Given the description of an element on the screen output the (x, y) to click on. 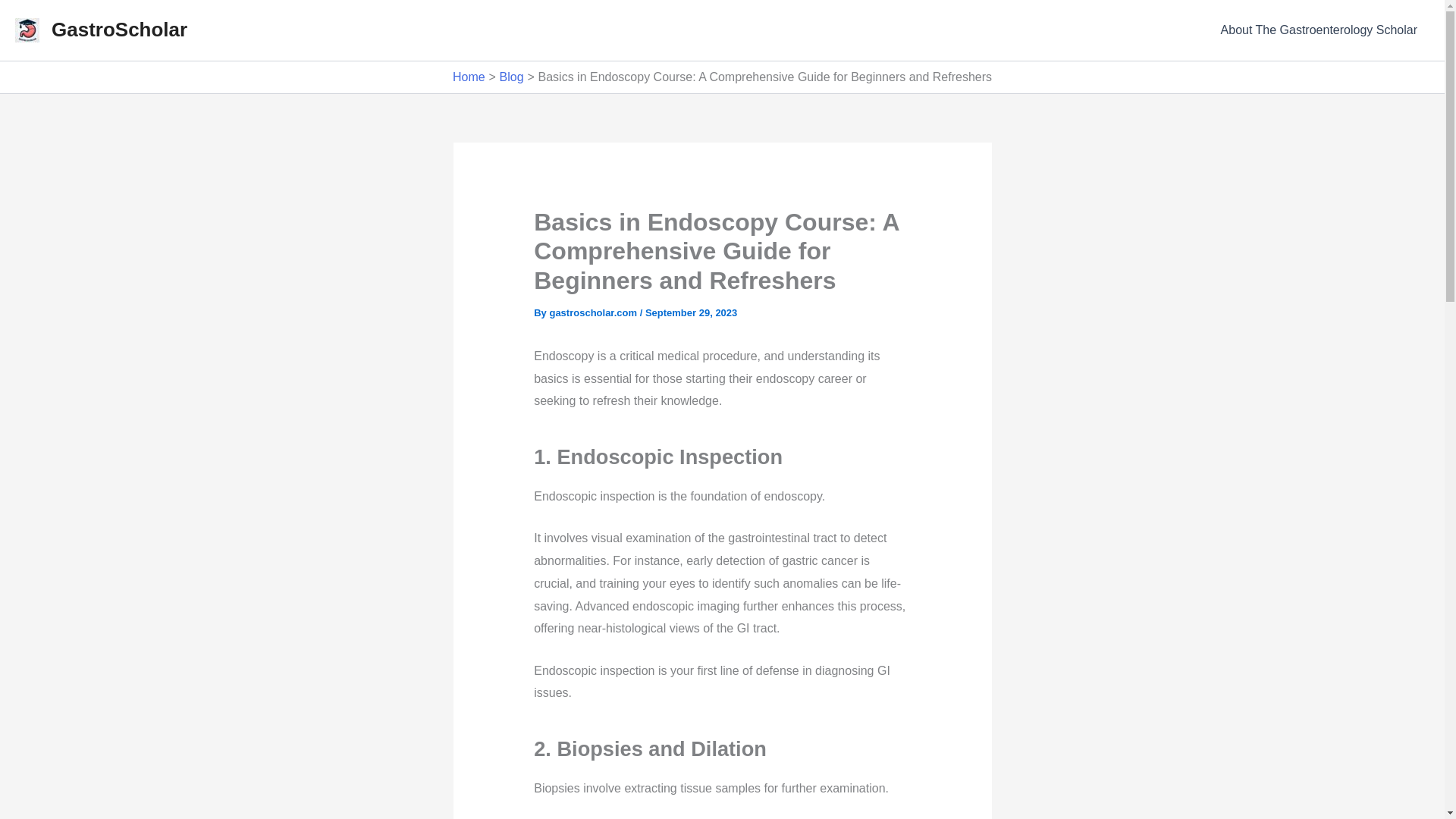
Blog (511, 76)
GastroScholar (118, 29)
gastroscholar.com (593, 312)
View all posts by gastroscholar.com (593, 312)
Home (468, 76)
About The Gastroenterology Scholar (1318, 30)
